Given the description of an element on the screen output the (x, y) to click on. 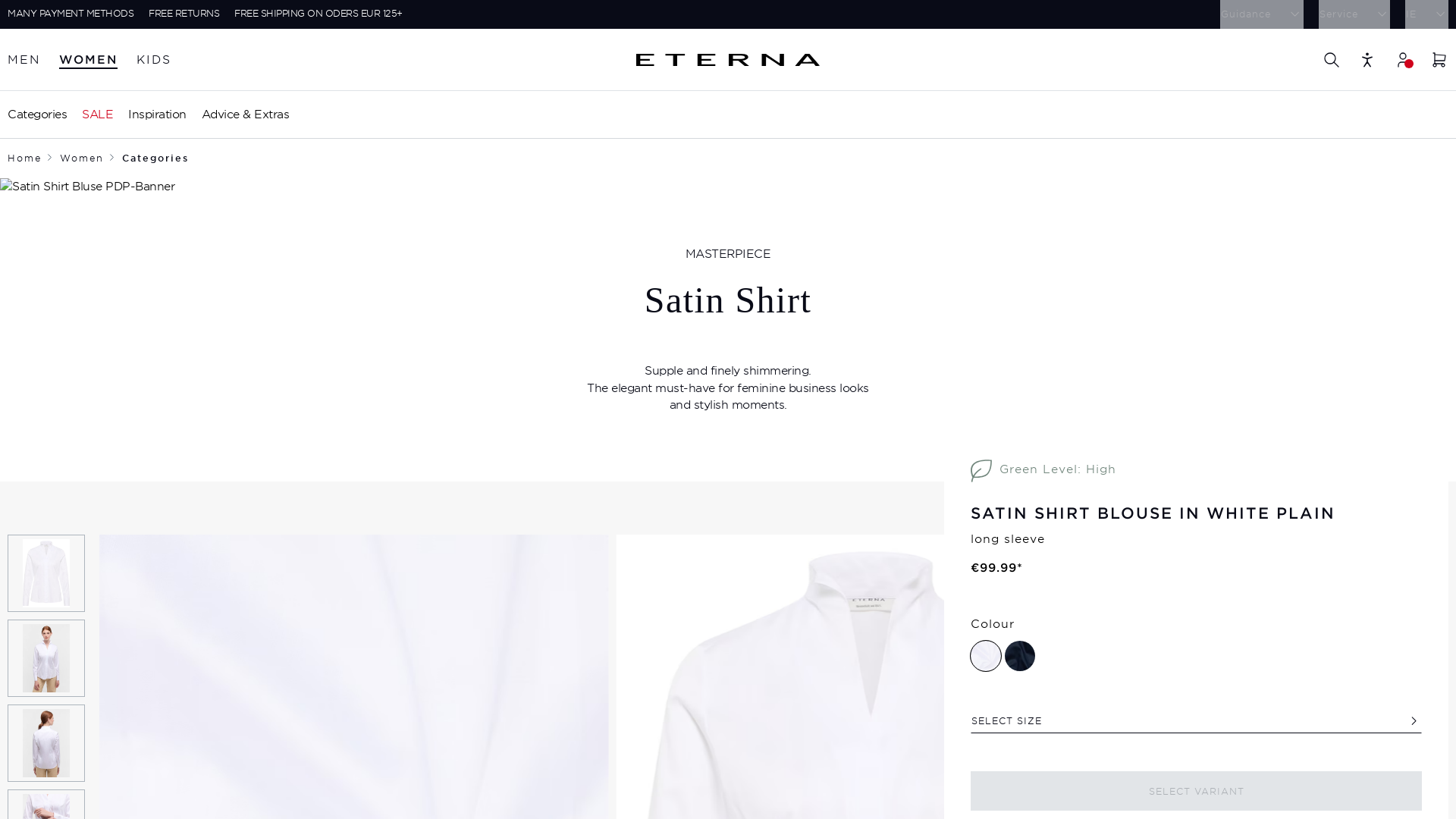
Guidance (1261, 14)
WOMEN (88, 59)
Service (1353, 14)
MEN (23, 59)
KIDS (153, 59)
IE (1426, 14)
